Given the description of an element on the screen output the (x, y) to click on. 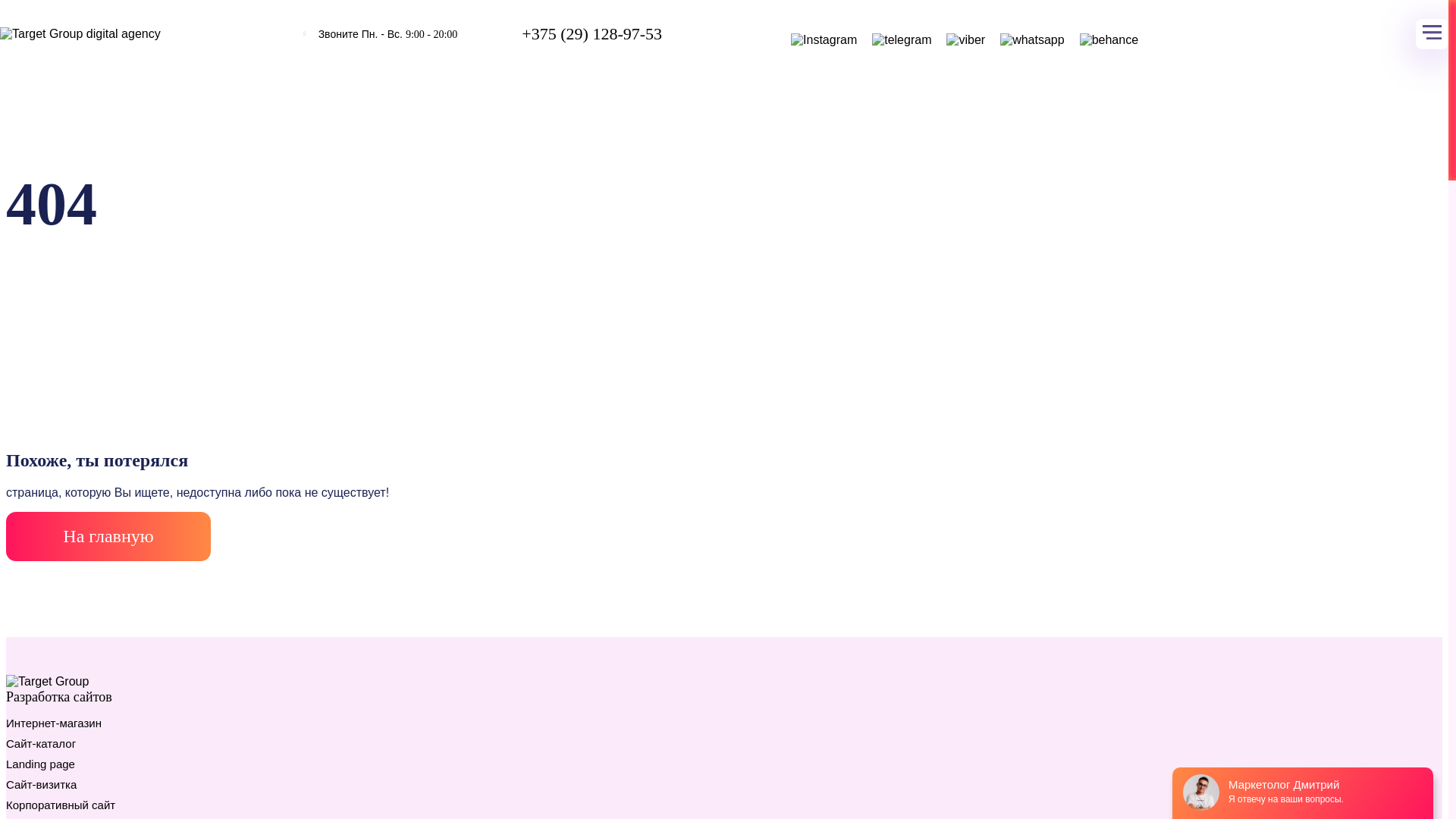
+375 (29) 128-97-53 Element type: text (591, 34)
Landing page Element type: text (40, 764)
Target Group Element type: hover (47, 681)
